Given the description of an element on the screen output the (x, y) to click on. 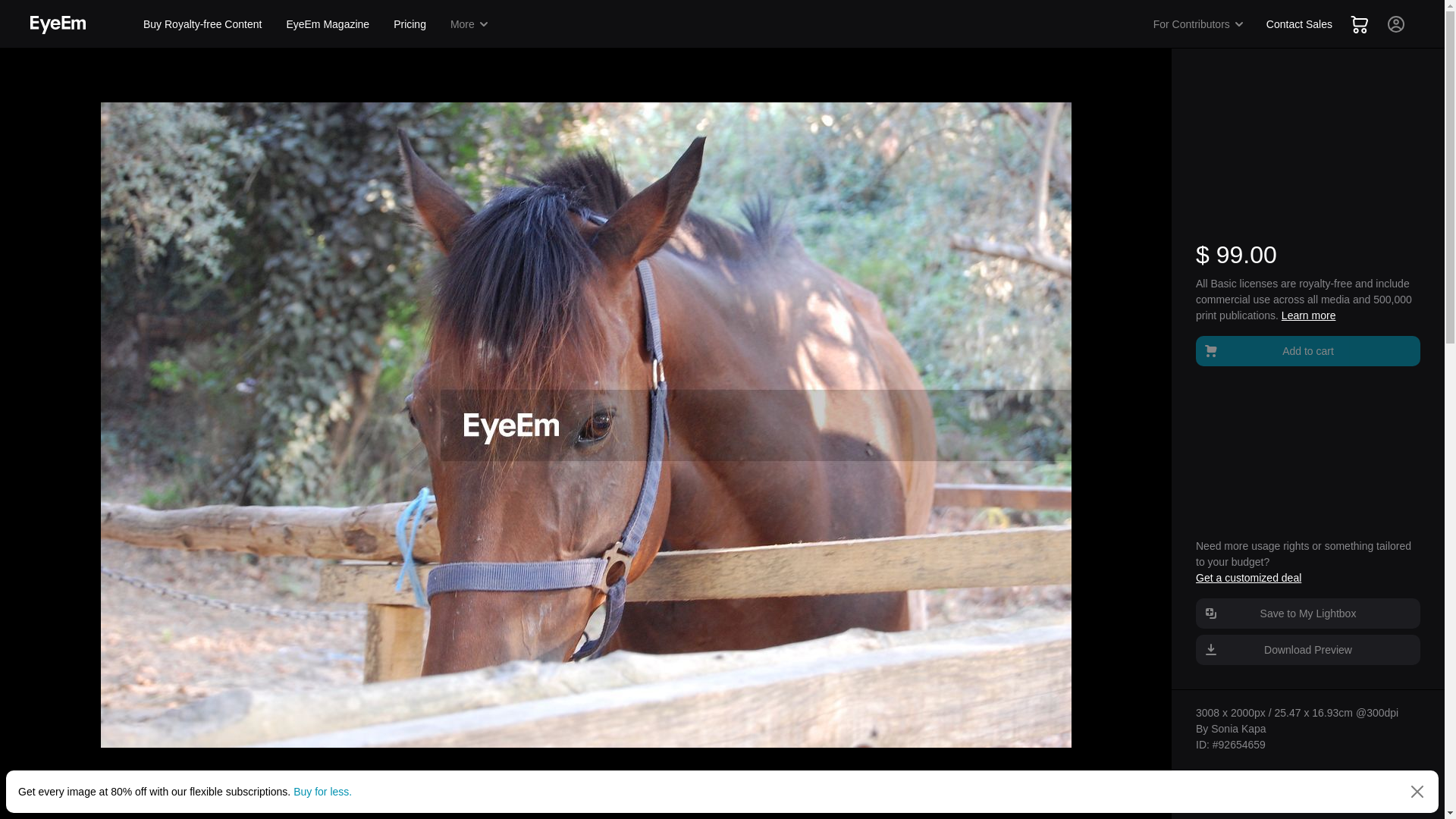
Save to My Lightbox (1308, 613)
By Sonia Kapa (1230, 727)
Buy Royalty-free Content (201, 24)
Contact Sales (1298, 24)
More (470, 24)
Learn more (1308, 315)
Add to cart (1308, 349)
For Contributors (1198, 24)
Pricing (409, 24)
EyeEm Magazine (327, 24)
